Given the description of an element on the screen output the (x, y) to click on. 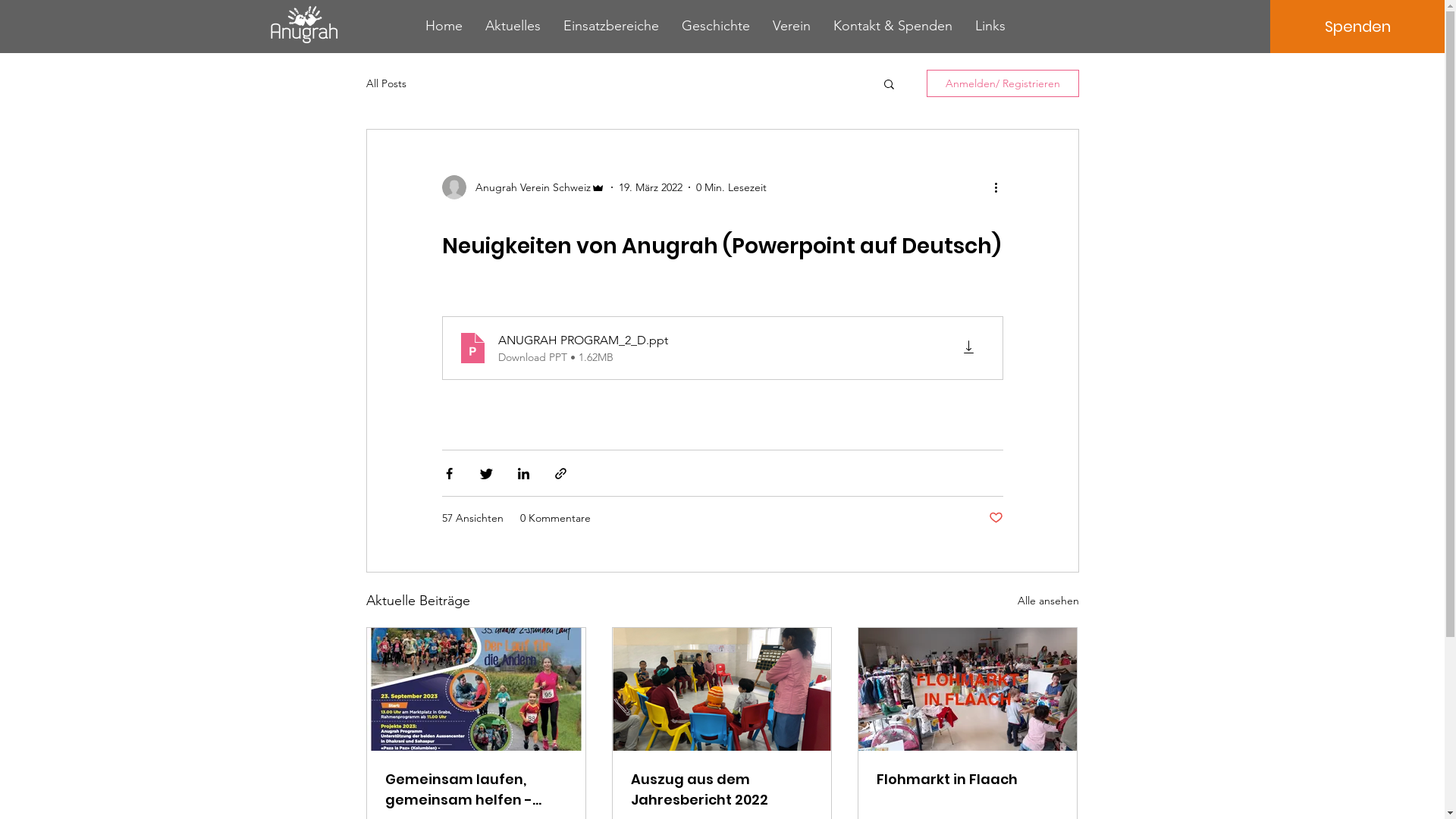
Anmelden/ Registrieren Element type: text (1002, 83)
Aktuelles Element type: text (512, 26)
Flohmarkt in Flaach Element type: text (967, 778)
Kontakt & Spenden Element type: text (892, 26)
Spenden Element type: text (1357, 26)
Einsatzbereiche Element type: text (611, 26)
Home Element type: text (443, 26)
Geschichte Element type: text (715, 26)
Links Element type: text (989, 26)
All Posts Element type: text (385, 83)
Alle ansehen Element type: text (1048, 600)
Verein Element type: text (791, 26)
Auszug aus dem Jahresbericht 2022 Element type: text (721, 788)
